Given the description of an element on the screen output the (x, y) to click on. 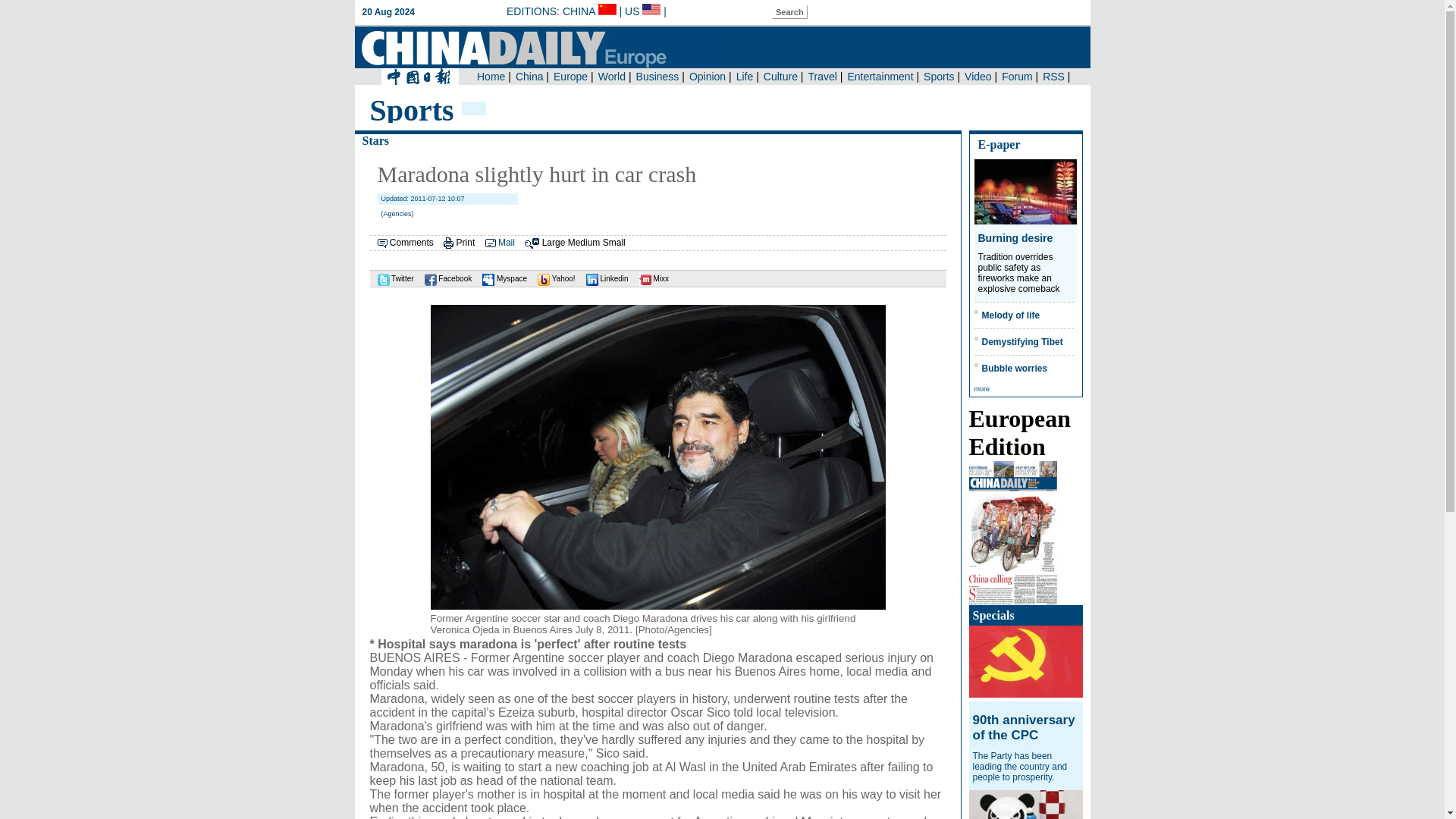
Melody of life (1010, 315)
Mixx (649, 278)
Linkedin (603, 278)
Share to Yahoo! Buzz (552, 278)
Share to Twitter (391, 278)
more (982, 388)
Share to Linkedin (603, 278)
Myspace (500, 278)
Comments (411, 242)
90th anniversary of the CPC (1023, 727)
